Given the description of an element on the screen output the (x, y) to click on. 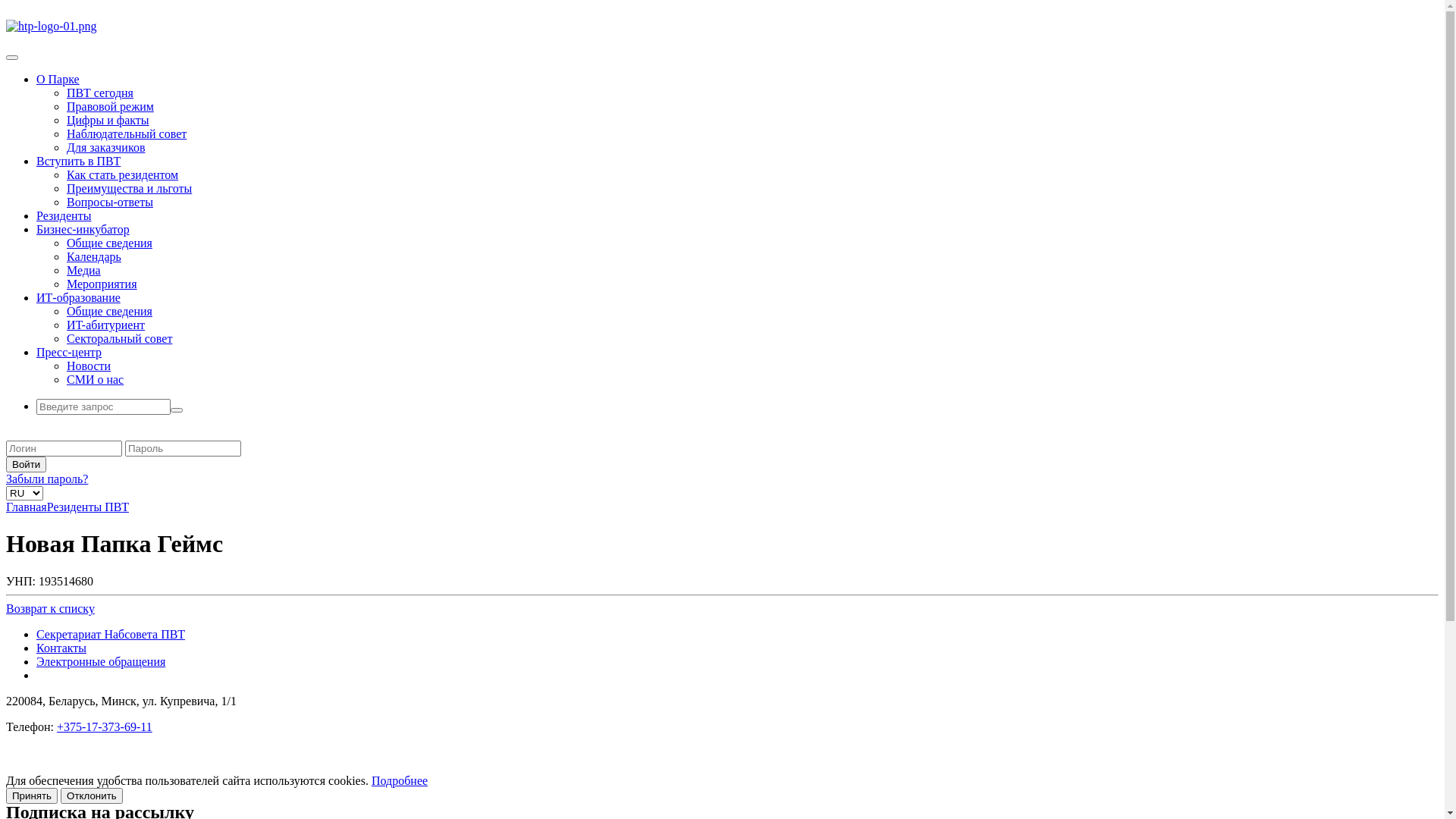
+375-17-373-69-11 Element type: text (104, 726)
htp-logo-01.png Element type: hover (51, 26)
